Given the description of an element on the screen output the (x, y) to click on. 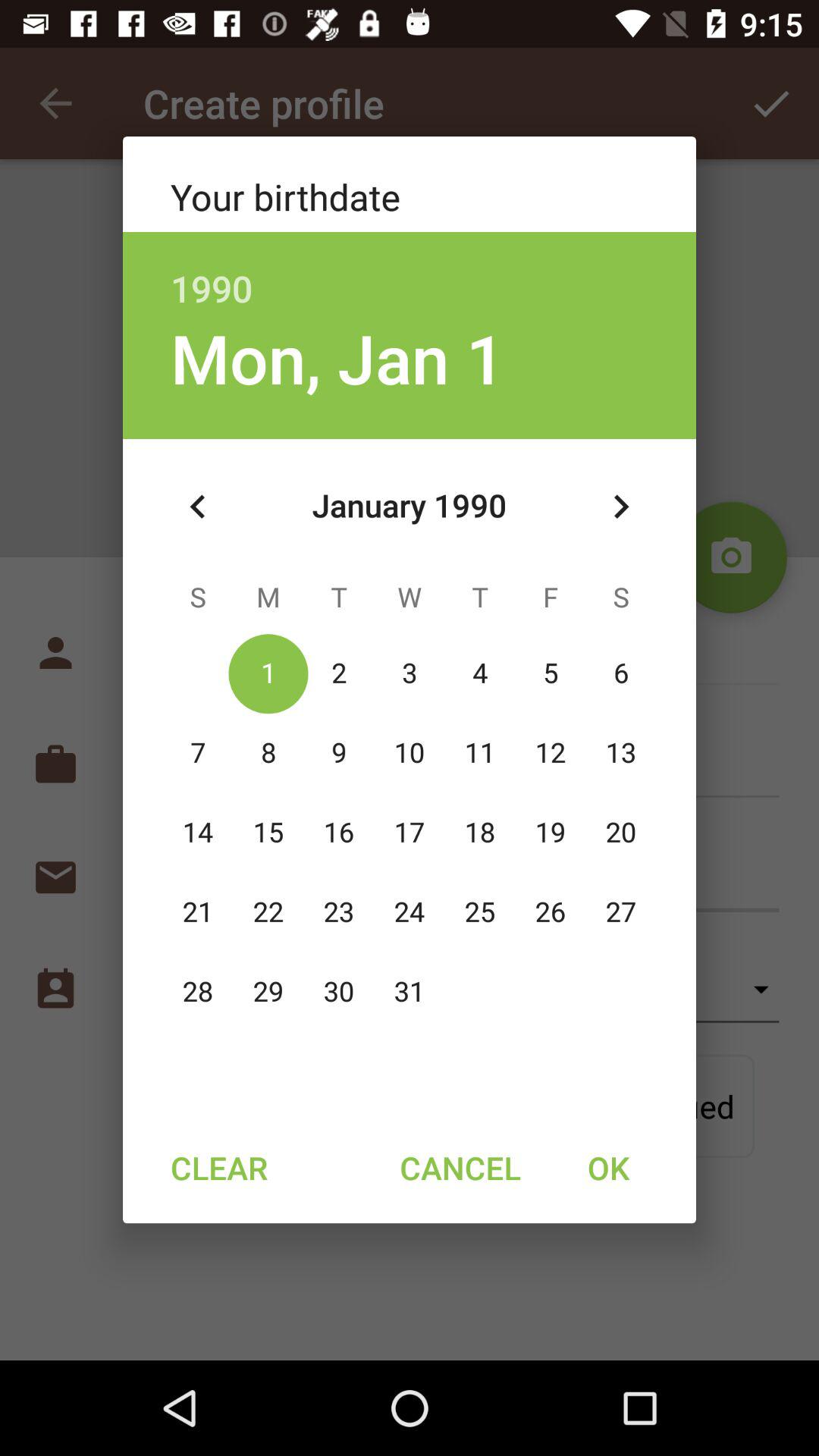
select the icon next to cancel item (608, 1167)
